Given the description of an element on the screen output the (x, y) to click on. 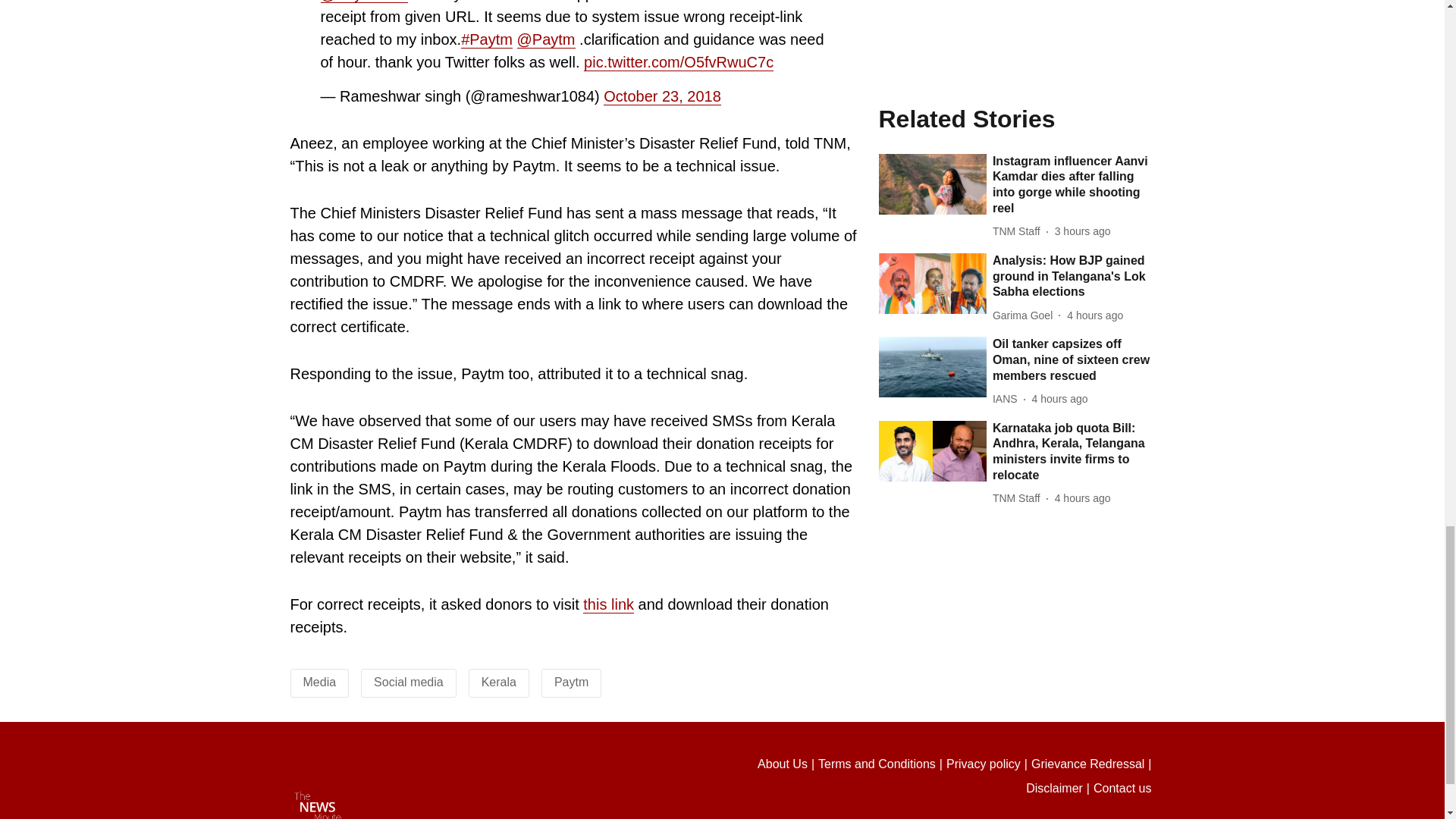
this link (608, 604)
October 23, 2018 (662, 96)
